Given the description of an element on the screen output the (x, y) to click on. 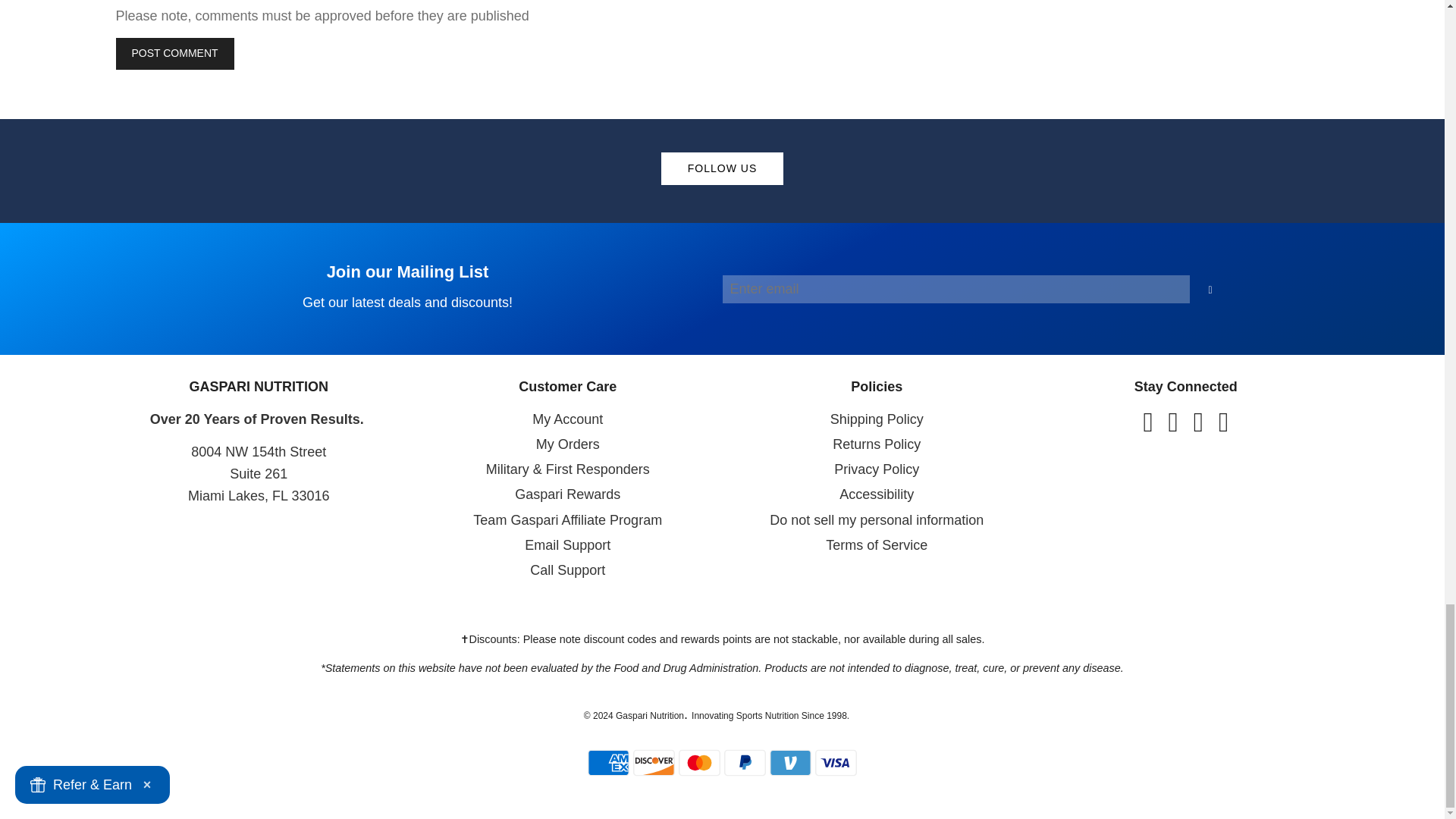
Visa (722, 289)
Venmo (836, 762)
PayPal (790, 762)
American Express (744, 762)
Discover (608, 762)
Mastercard (654, 762)
Post comment (699, 762)
